Given the description of an element on the screen output the (x, y) to click on. 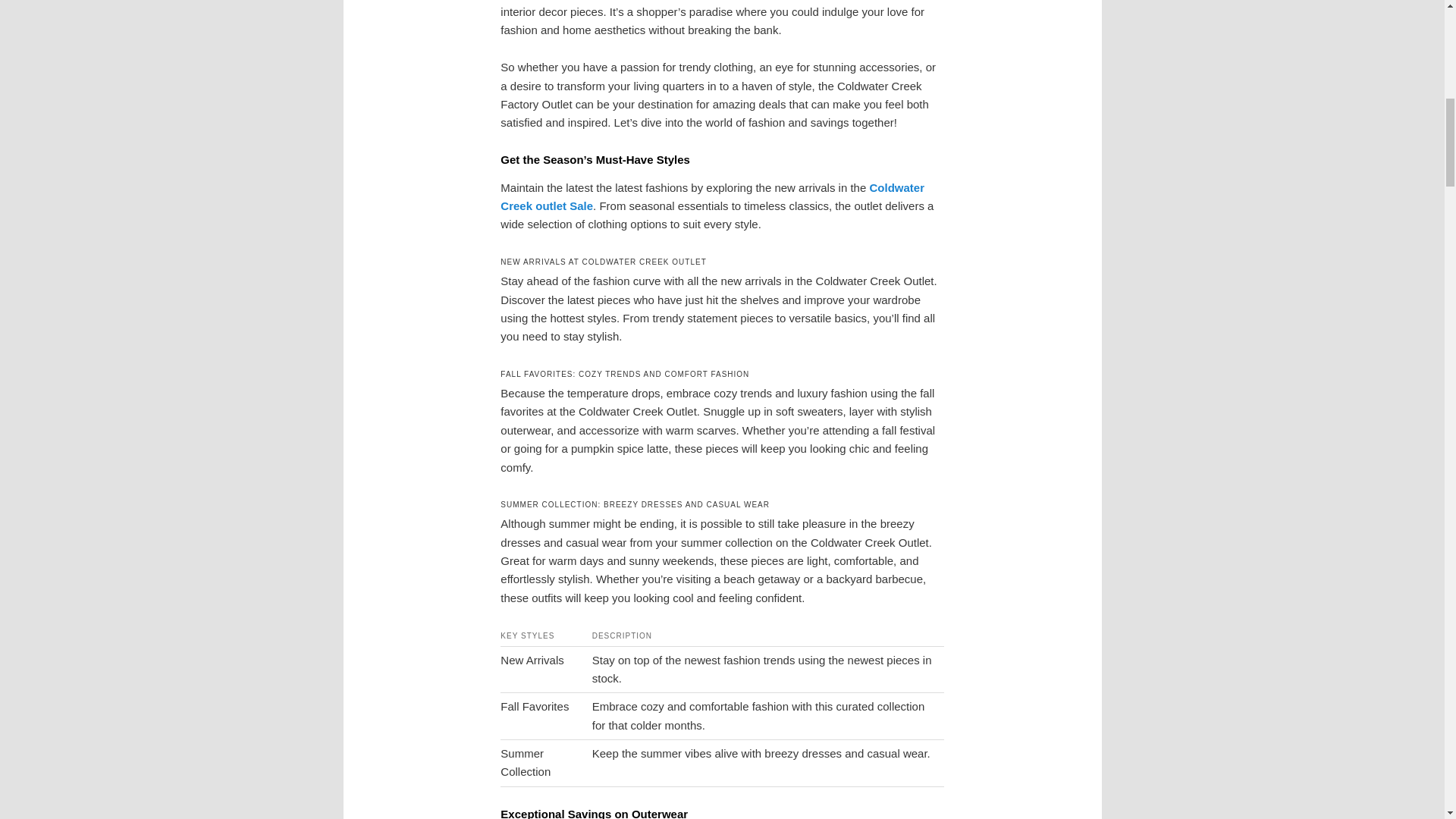
Coldwater Creek outlet Sale (712, 196)
